Given the description of an element on the screen output the (x, y) to click on. 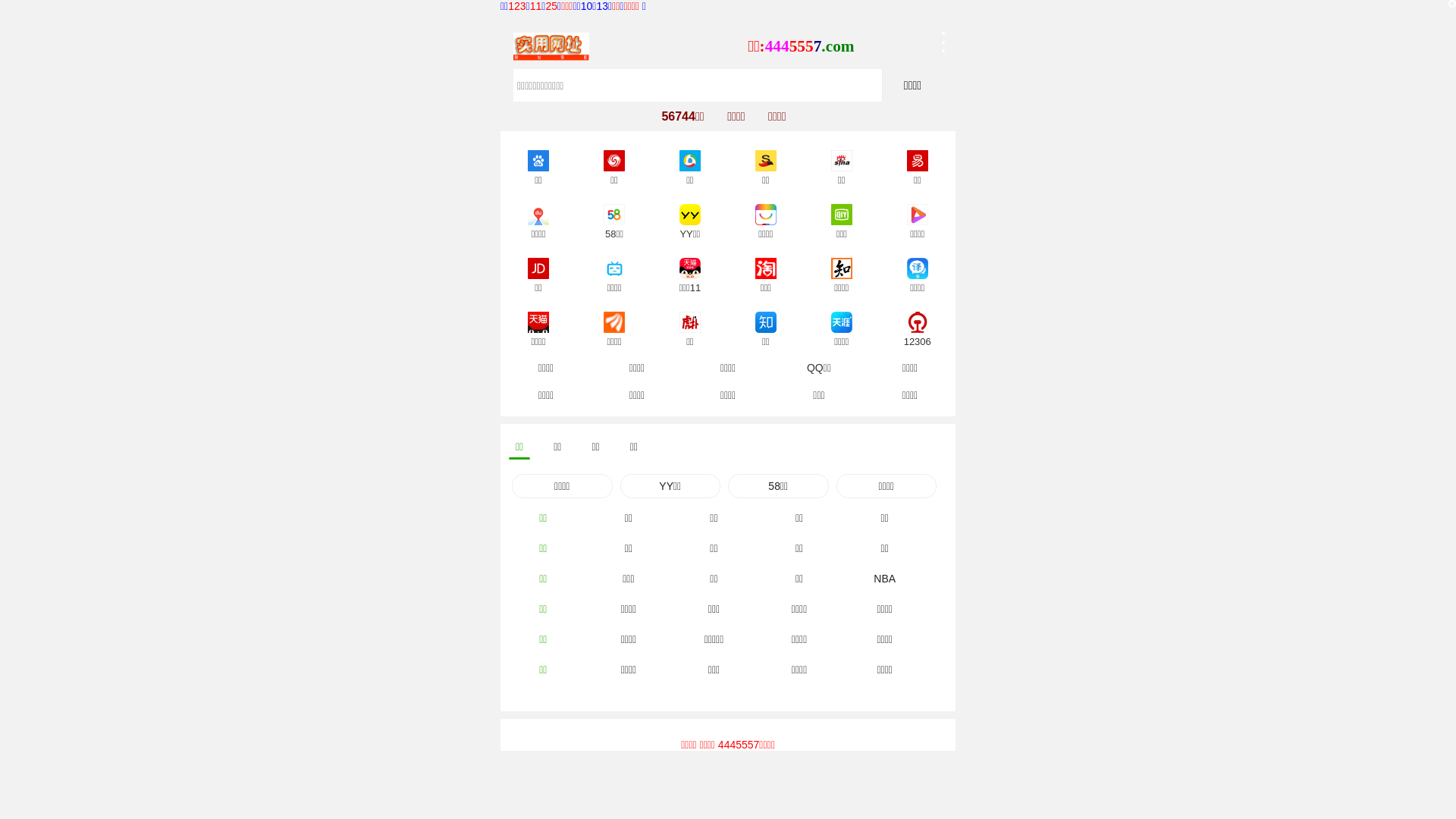
12306 Element type: text (917, 319)
NBA Element type: text (884, 578)
